Given the description of an element on the screen output the (x, y) to click on. 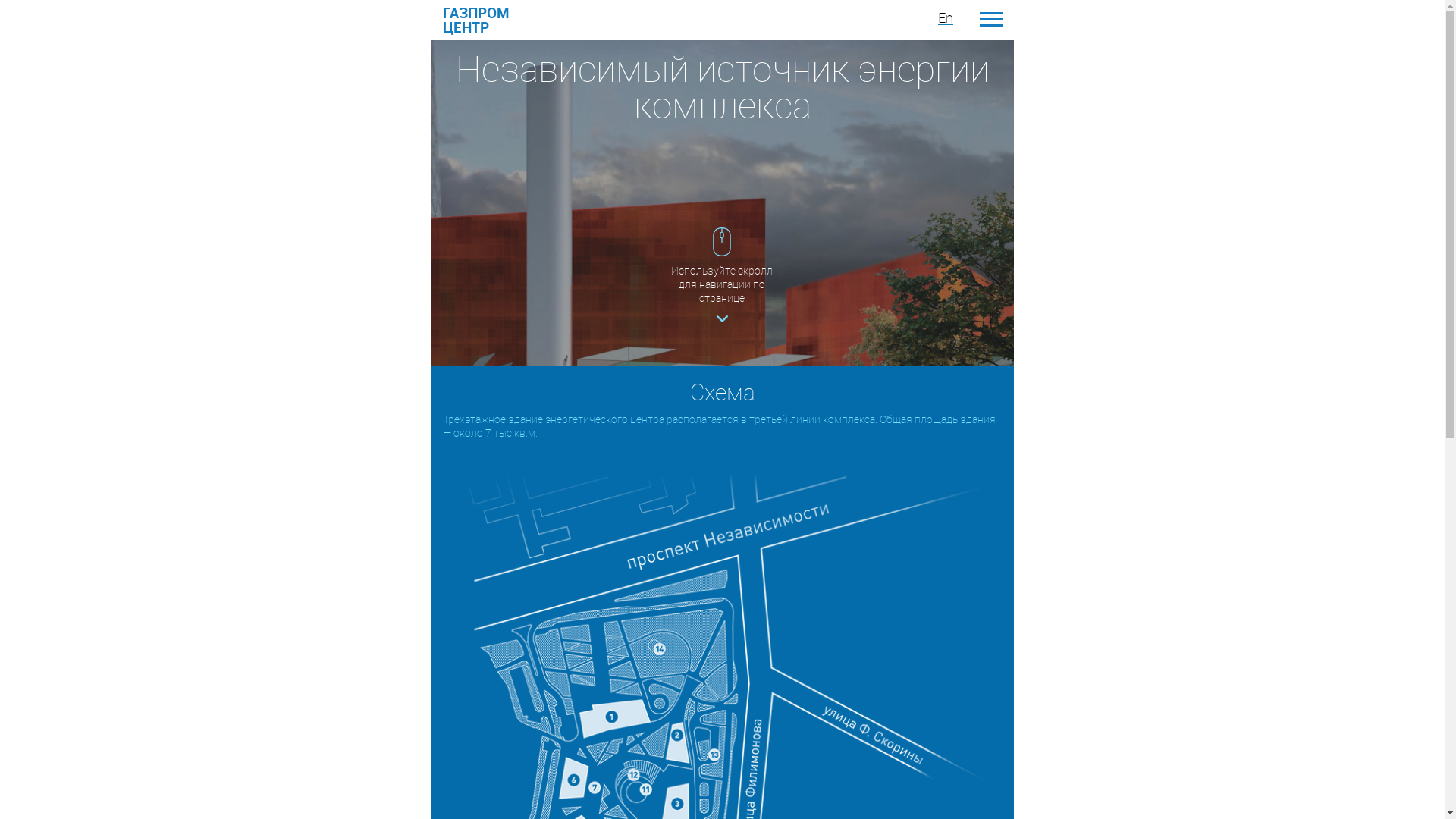
En Element type: text (944, 17)
